Given the description of an element on the screen output the (x, y) to click on. 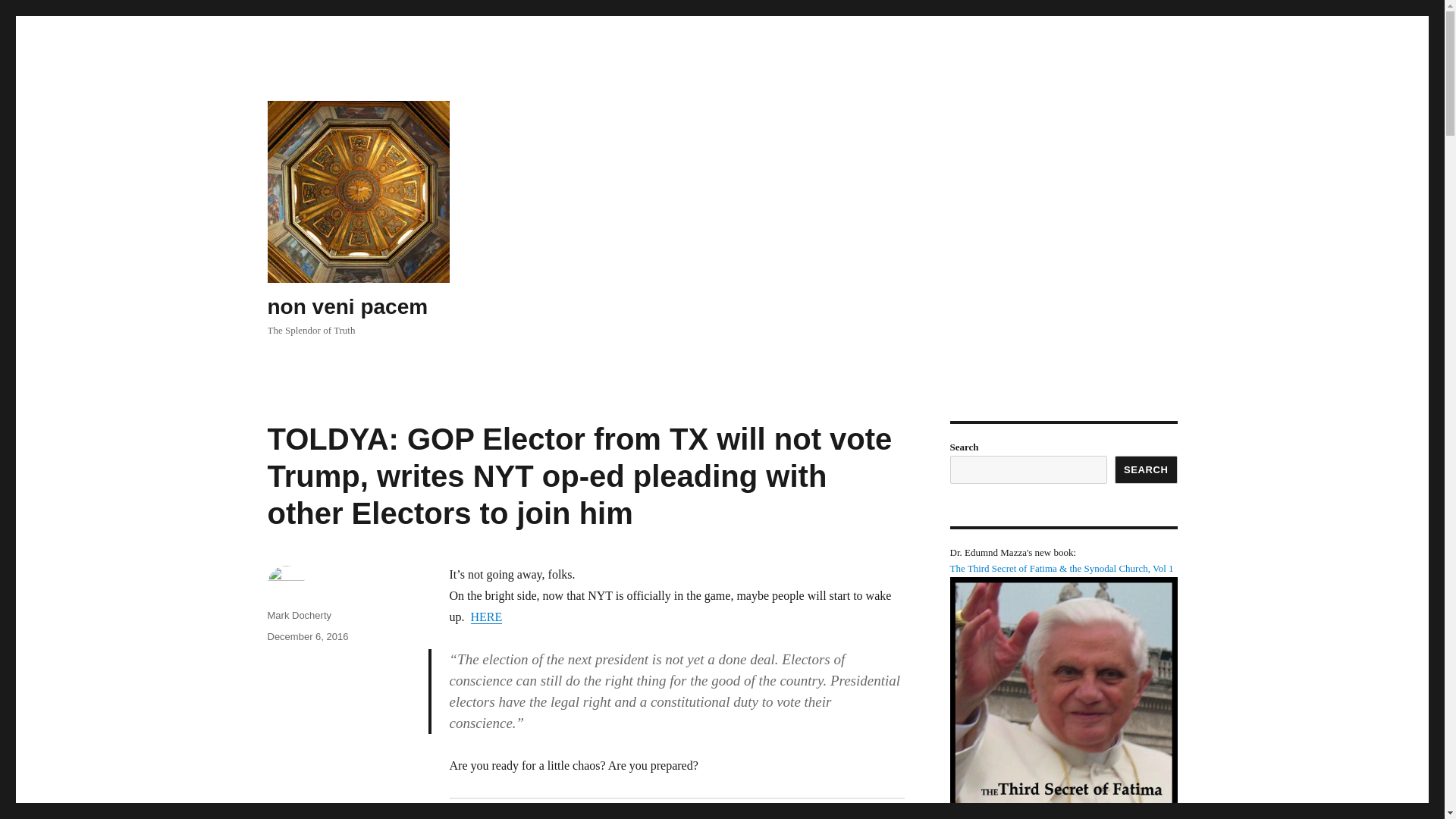
December 6, 2016 (306, 636)
Mark Docherty (298, 614)
HERE (486, 616)
non veni pacem (347, 306)
